Given the description of an element on the screen output the (x, y) to click on. 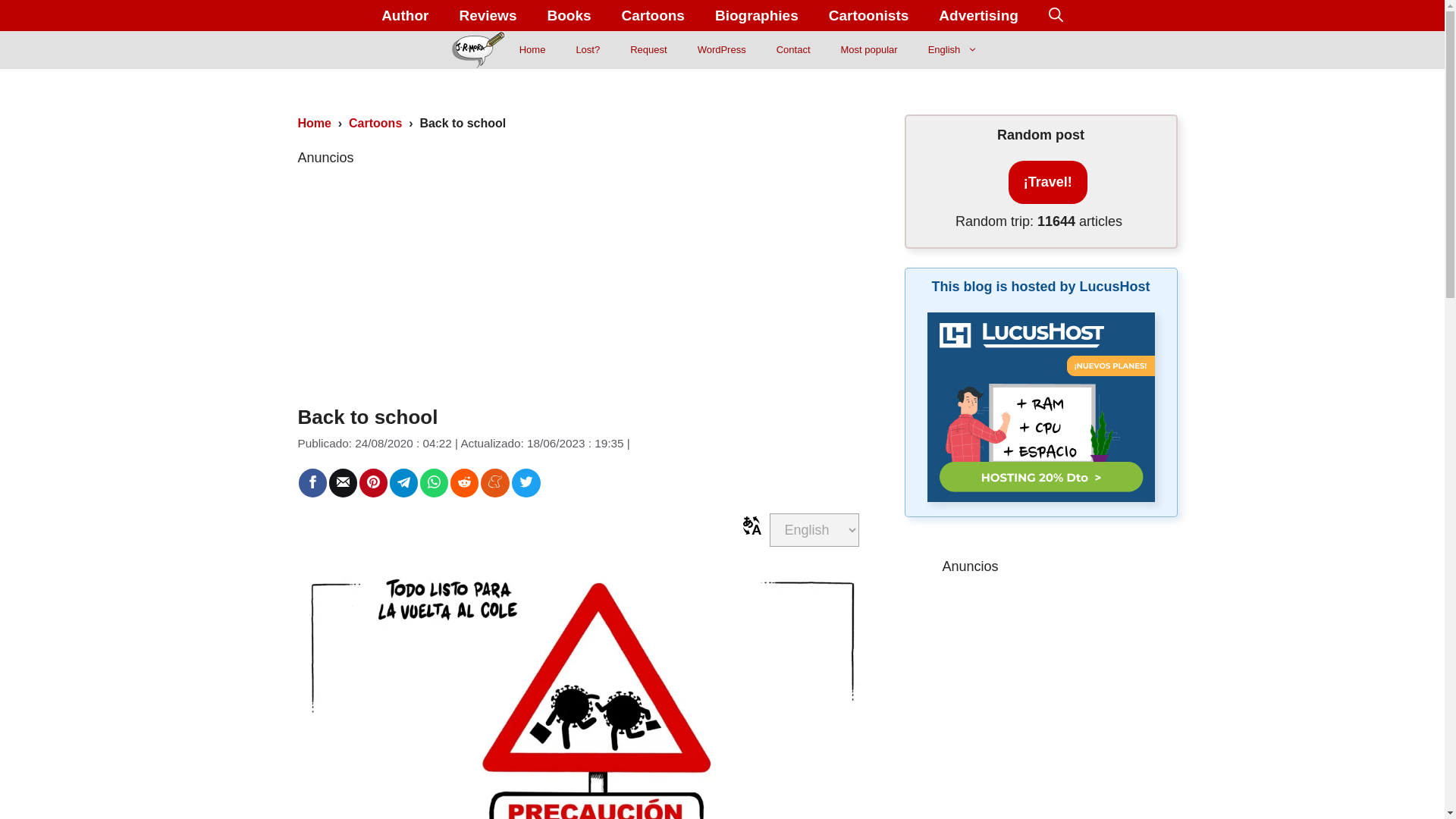
WordPress (721, 50)
Lost? (587, 50)
Author (405, 15)
Biographies (756, 15)
Cartoons (653, 15)
Directory of cartoonists (868, 15)
Are you lost? (587, 50)
Most popular posts (868, 50)
Paper and digital cartoon books (568, 15)
WordPress (721, 50)
Cartoonists (868, 15)
Advertisement (581, 274)
Contact (793, 50)
Telegram (403, 481)
